Given the description of an element on the screen output the (x, y) to click on. 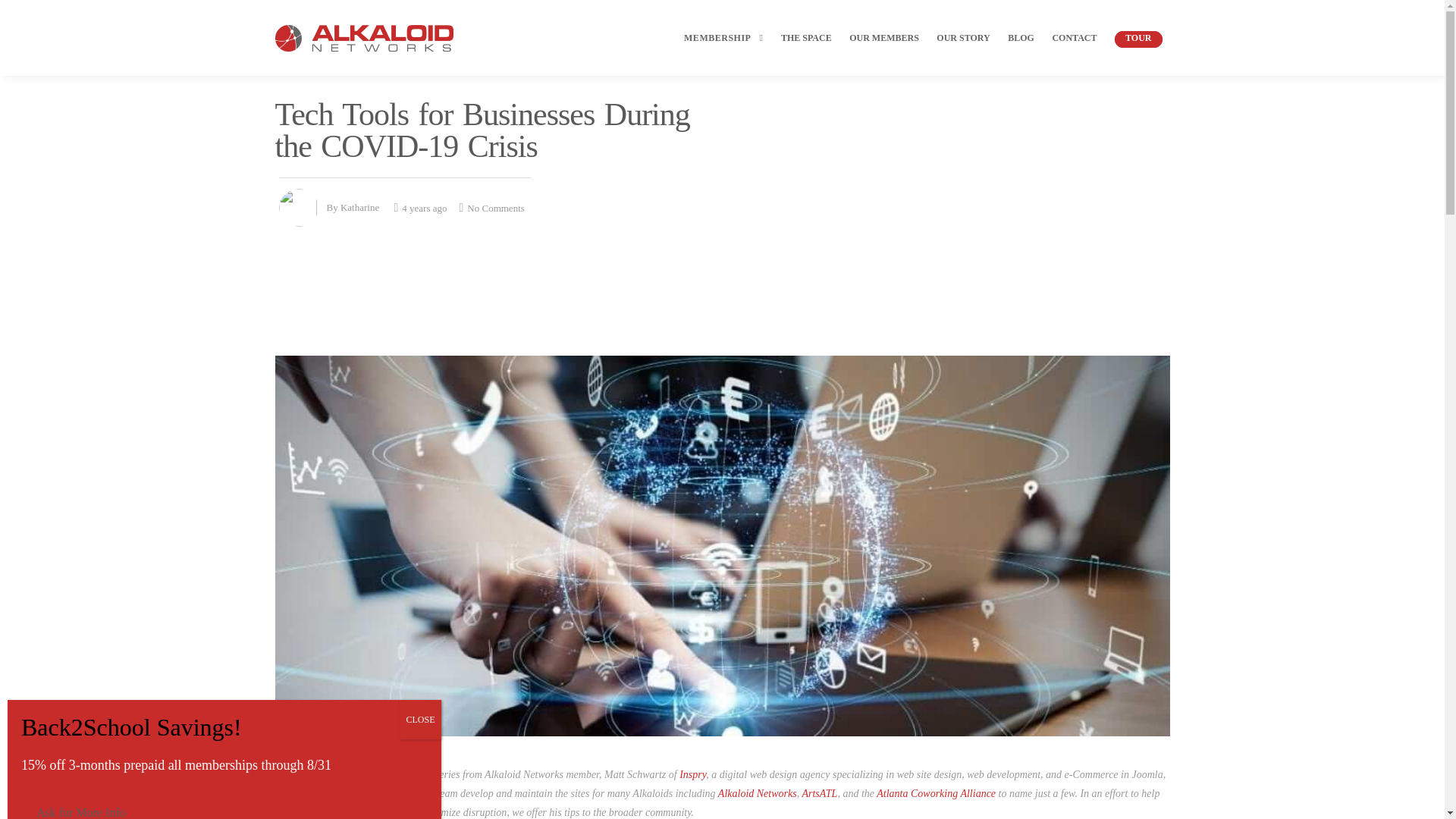
No Comments (491, 206)
Atlanta Coworking Alliance (935, 792)
CONTACT (1073, 51)
Alkaloid Networks (756, 792)
Katharine (359, 206)
Inspry (692, 774)
MEMBERSHIP (721, 51)
TOUR (1137, 51)
OUR MEMBERS (883, 51)
OUR STORY (962, 51)
